Given the description of an element on the screen output the (x, y) to click on. 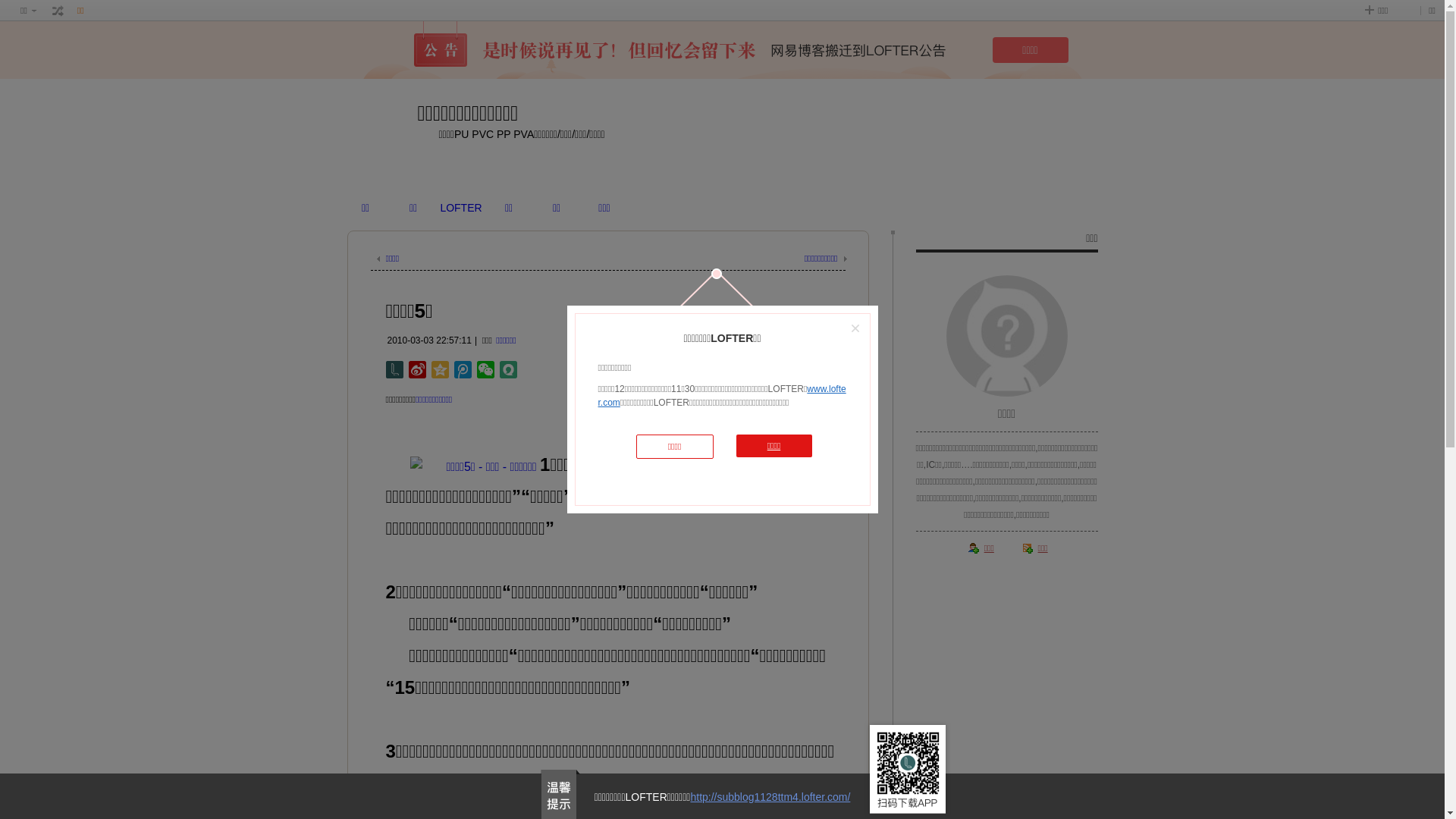
http://subblog1128ttm4.lofter.com/ Element type: text (770, 796)
www.lofter.com Element type: text (721, 395)
  Element type: text (58, 10)
LOFTER Element type: text (460, 207)
